Given the description of an element on the screen output the (x, y) to click on. 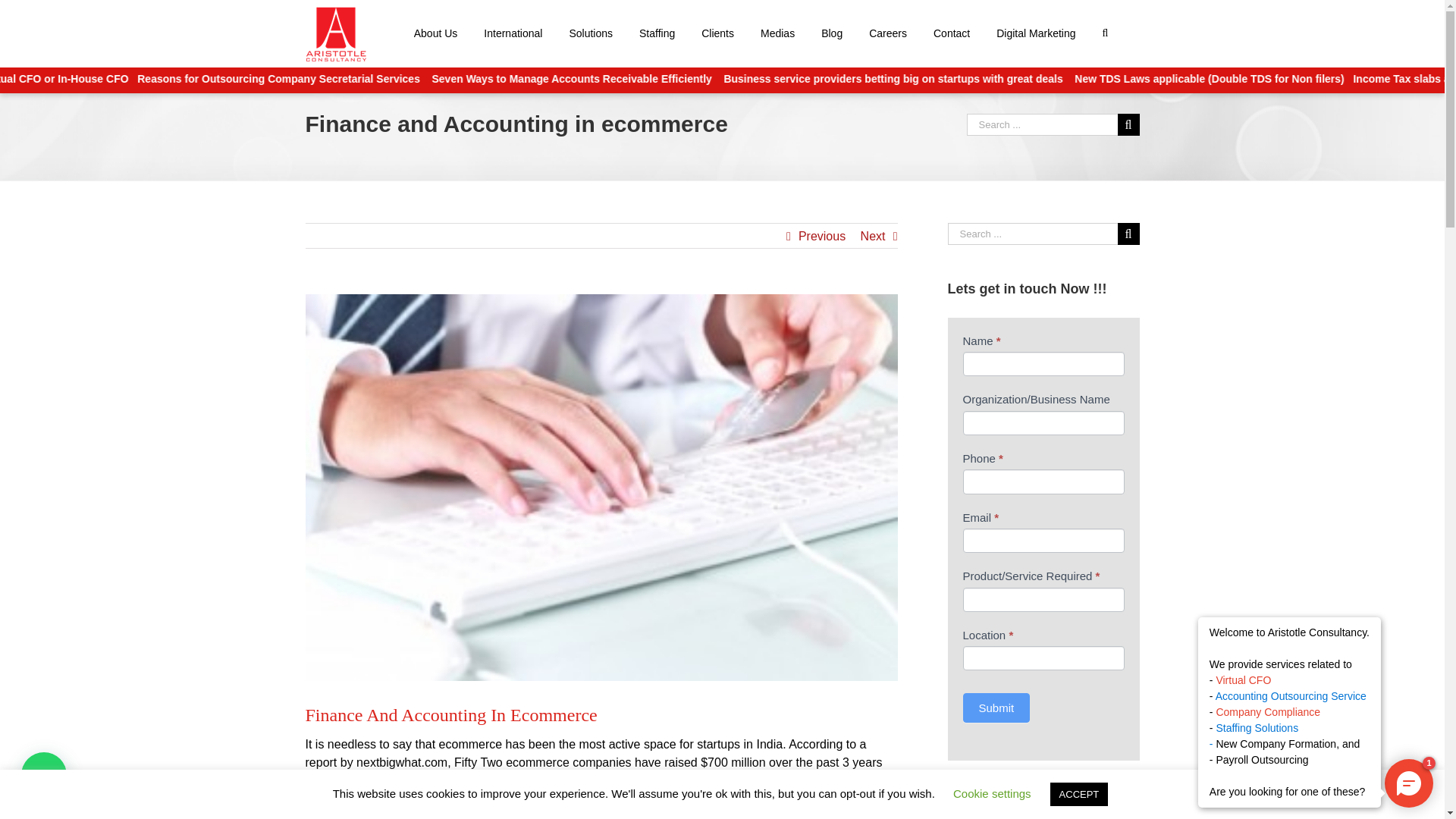
Solutions (590, 31)
Search (1107, 31)
About Us (435, 31)
International (512, 31)
